Given the description of an element on the screen output the (x, y) to click on. 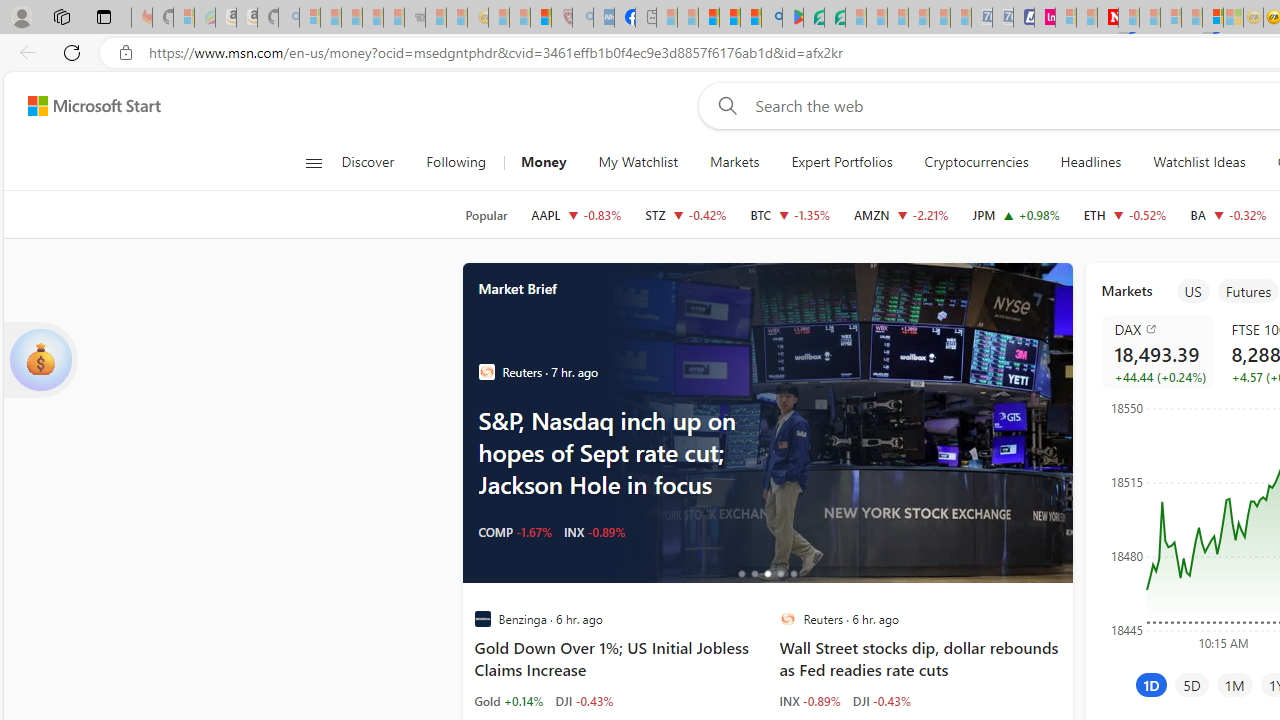
Benzinga (482, 619)
Cryptocurrencies (975, 162)
STZ CONSTELLATION BRANDS, INC. decrease 243.70 -1.04 -0.42% (685, 214)
Markets (733, 162)
Expert Portfolios (842, 162)
DAX (1160, 328)
show card (40, 359)
google - Search (771, 17)
Terms of Use Agreement (813, 17)
Popular (486, 215)
Cheap Car Rentals - Save70.com - Sleeping (981, 17)
Markets (734, 162)
Combat Siege (414, 17)
